Given the description of an element on the screen output the (x, y) to click on. 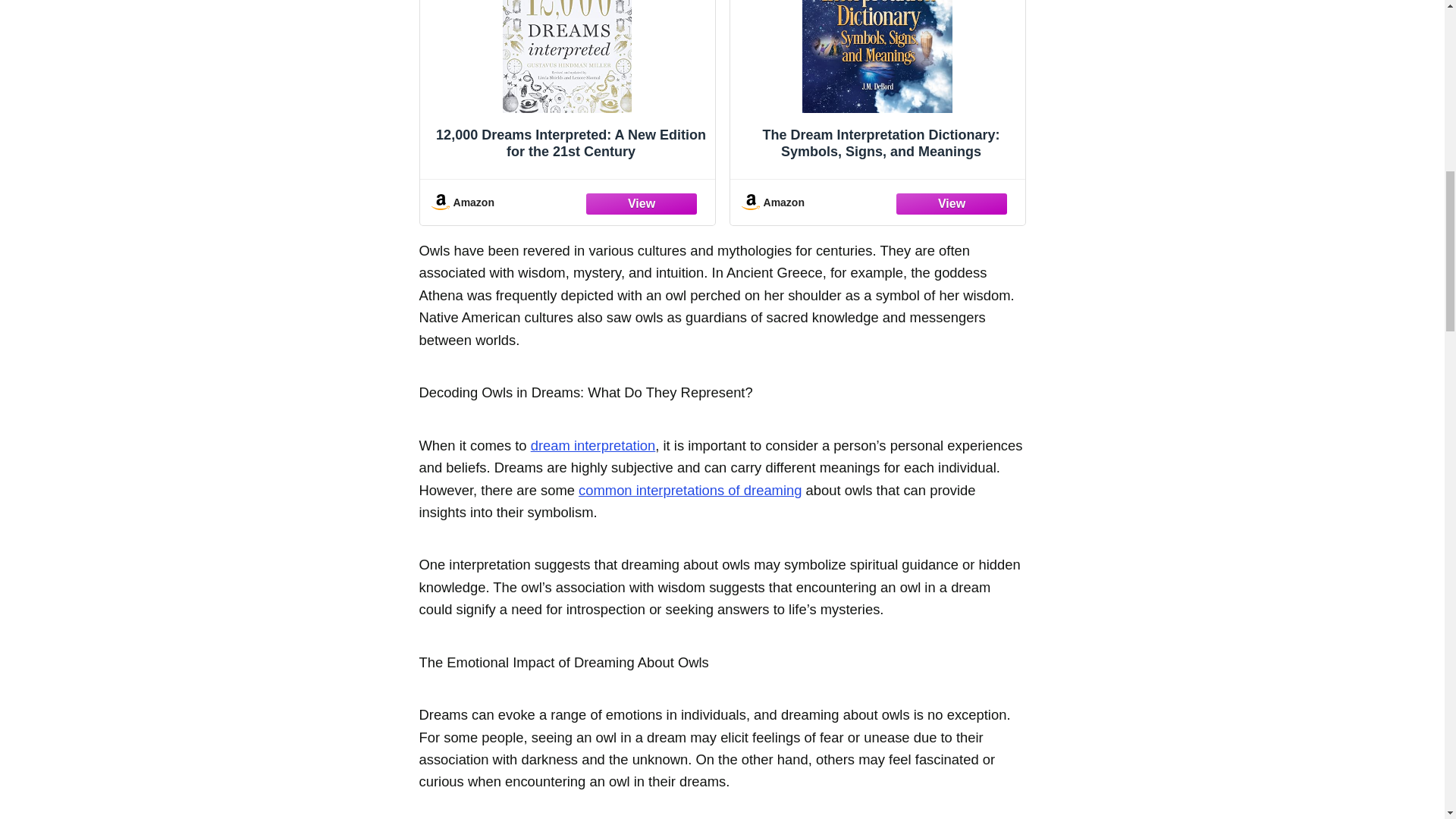
Amazon (877, 202)
Amazon (566, 202)
dream interpretation (593, 445)
common interpretations of dreaming (690, 489)
